Given the description of an element on the screen output the (x, y) to click on. 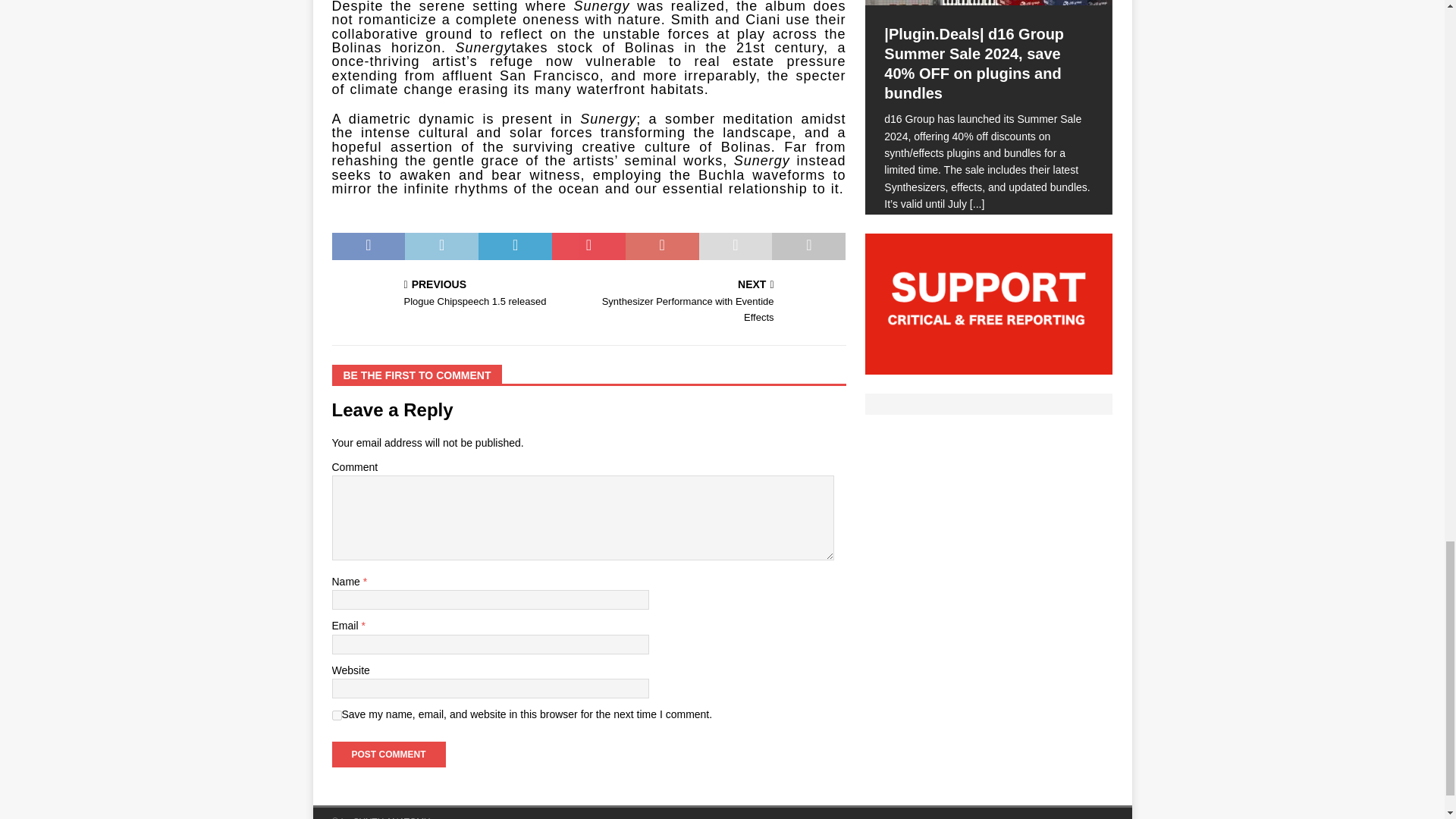
yes (336, 715)
Post Comment (388, 754)
